Given the description of an element on the screen output the (x, y) to click on. 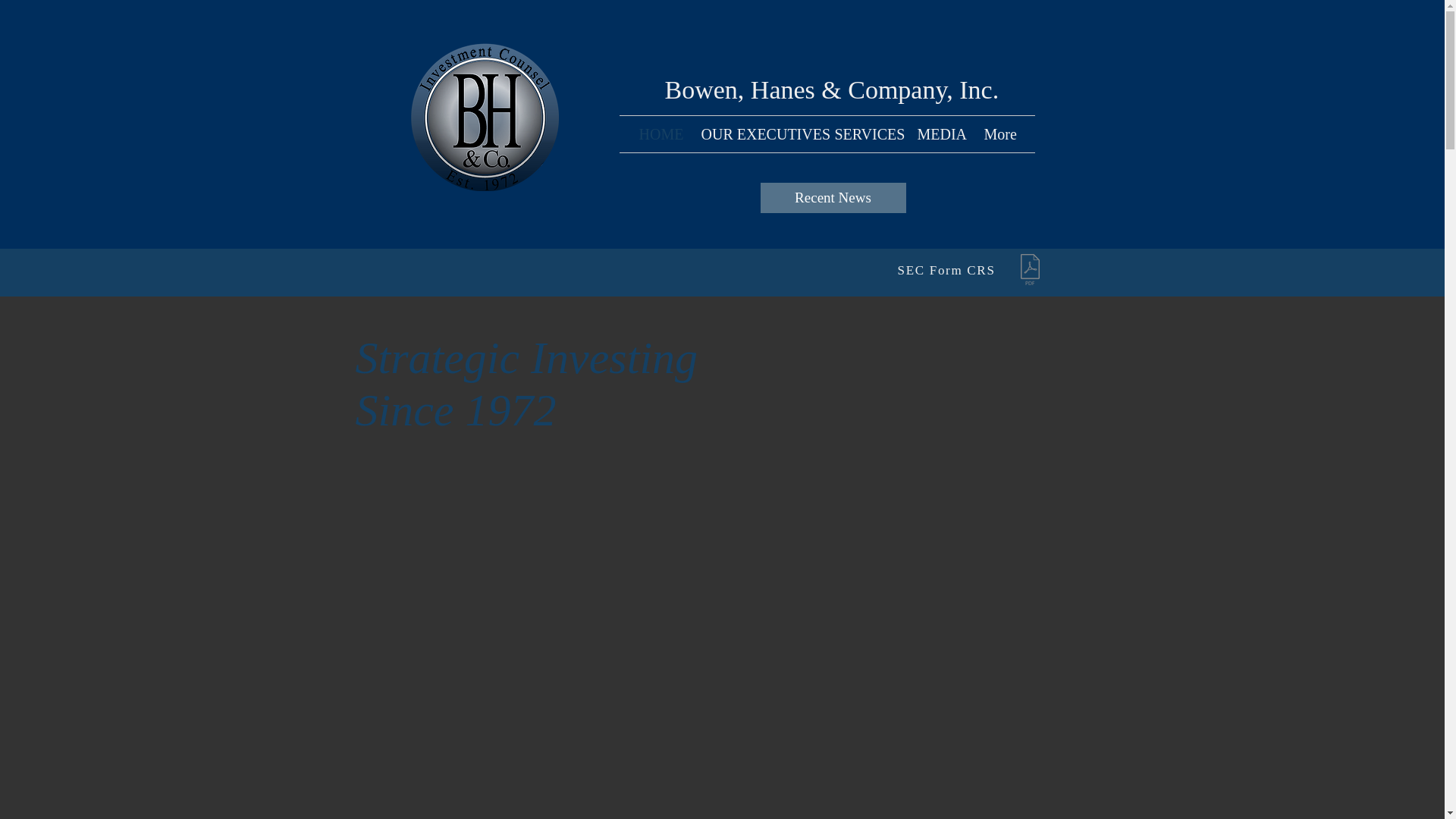
OUR EXECUTIVES (757, 134)
SERVICES (864, 134)
Recent News (832, 197)
MEDIA (938, 134)
HOME (658, 134)
